Given the description of an element on the screen output the (x, y) to click on. 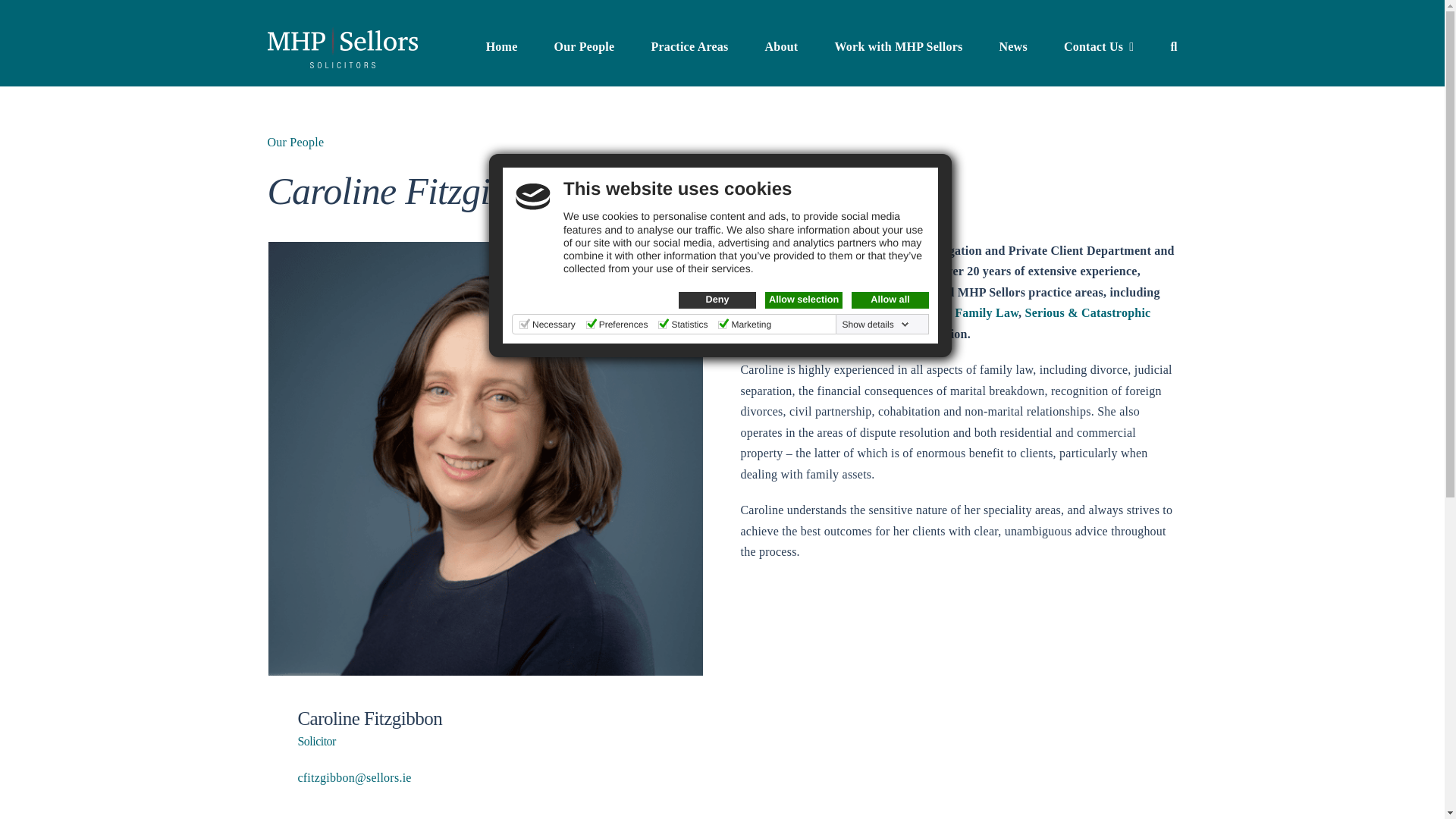
Show details (876, 324)
Allow all (889, 299)
Allow selection (804, 299)
Deny (721, 185)
